Given the description of an element on the screen output the (x, y) to click on. 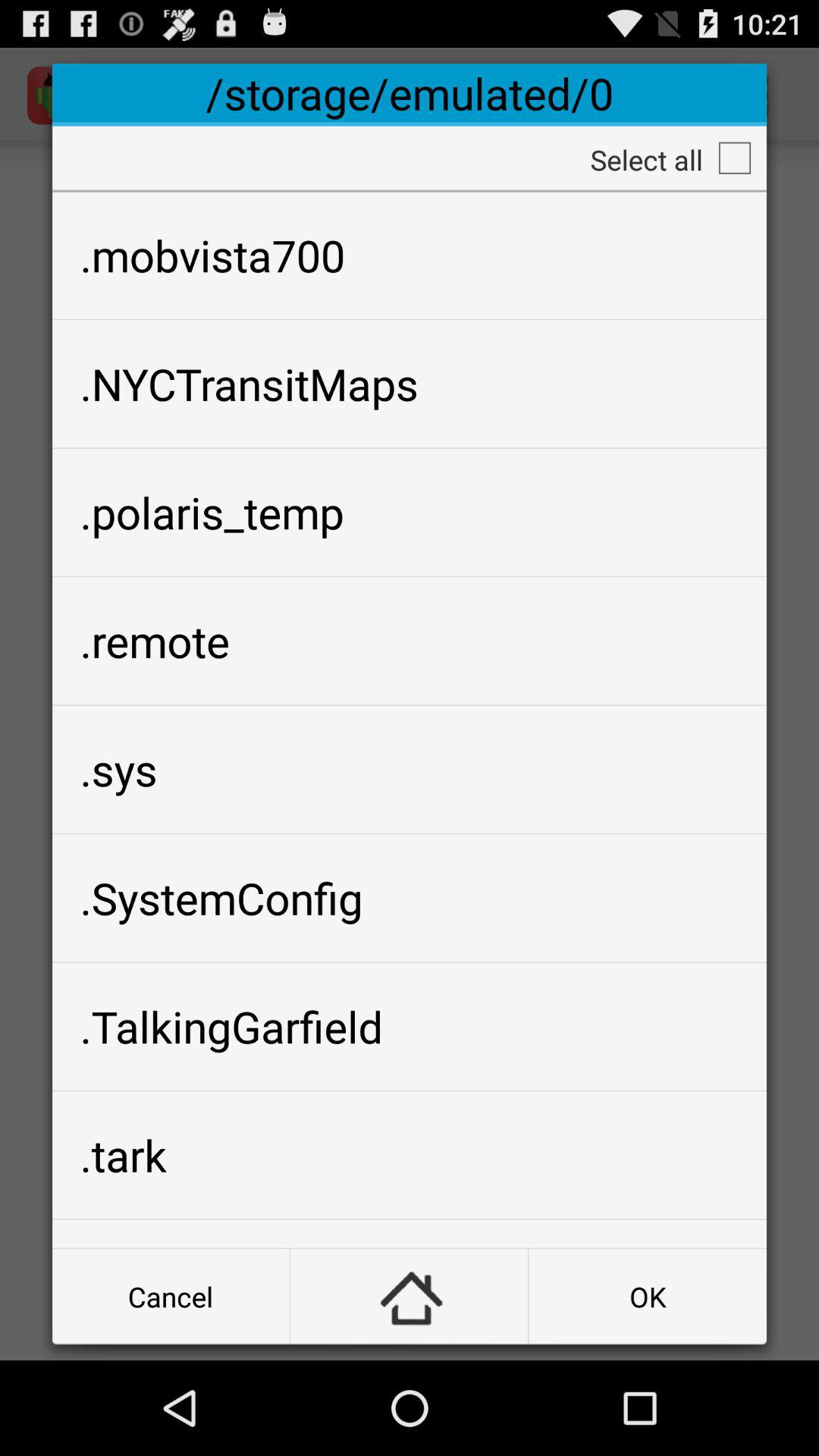
press app below the .polaris_temp item (409, 640)
